Given the description of an element on the screen output the (x, y) to click on. 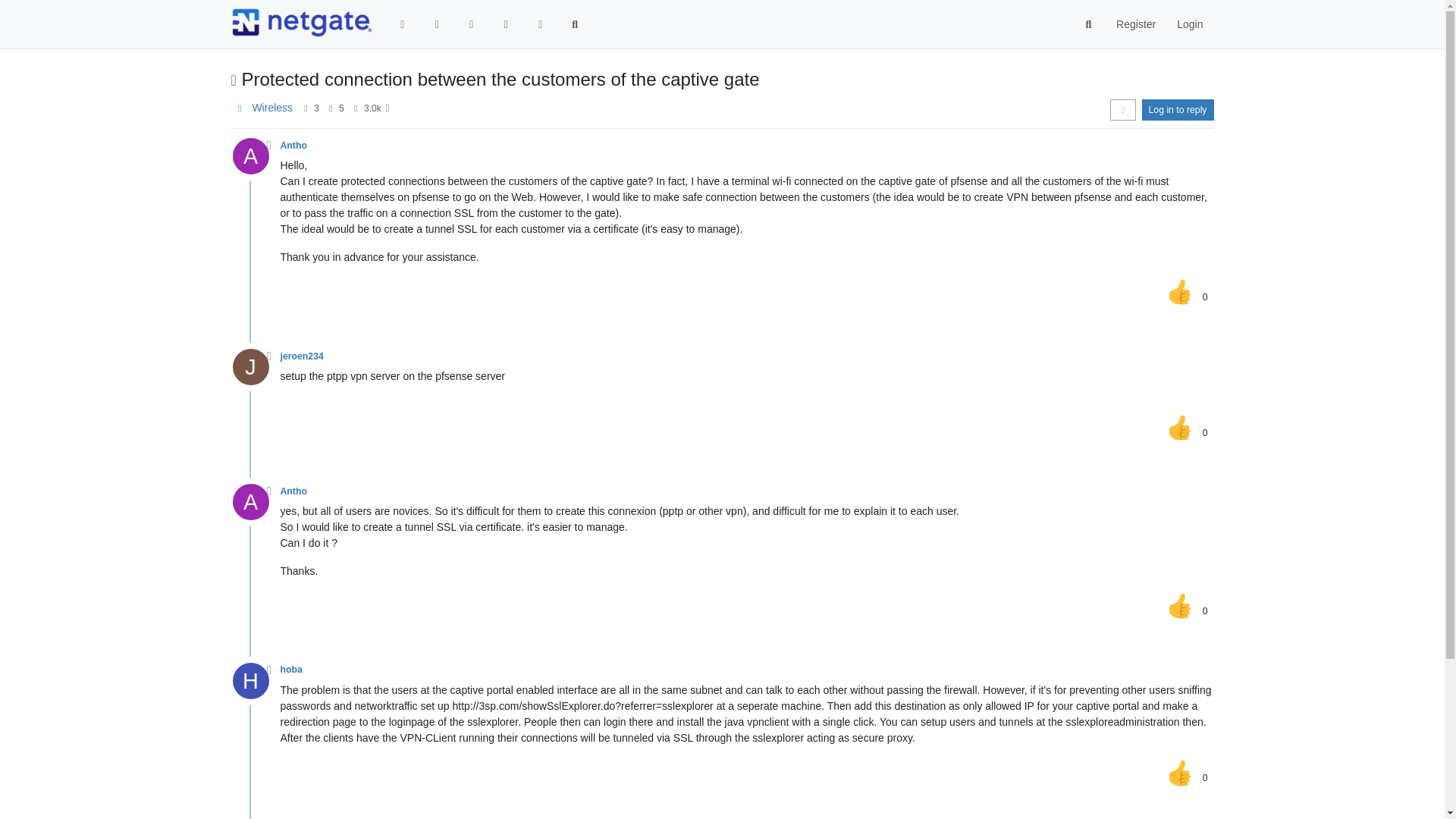
Register (1135, 24)
Tags (471, 24)
Wireless (271, 107)
Search (574, 24)
Log in to reply (1177, 109)
Search (1088, 24)
Categories (402, 24)
Users (539, 24)
Recent (437, 24)
Antho (294, 145)
